Given the description of an element on the screen output the (x, y) to click on. 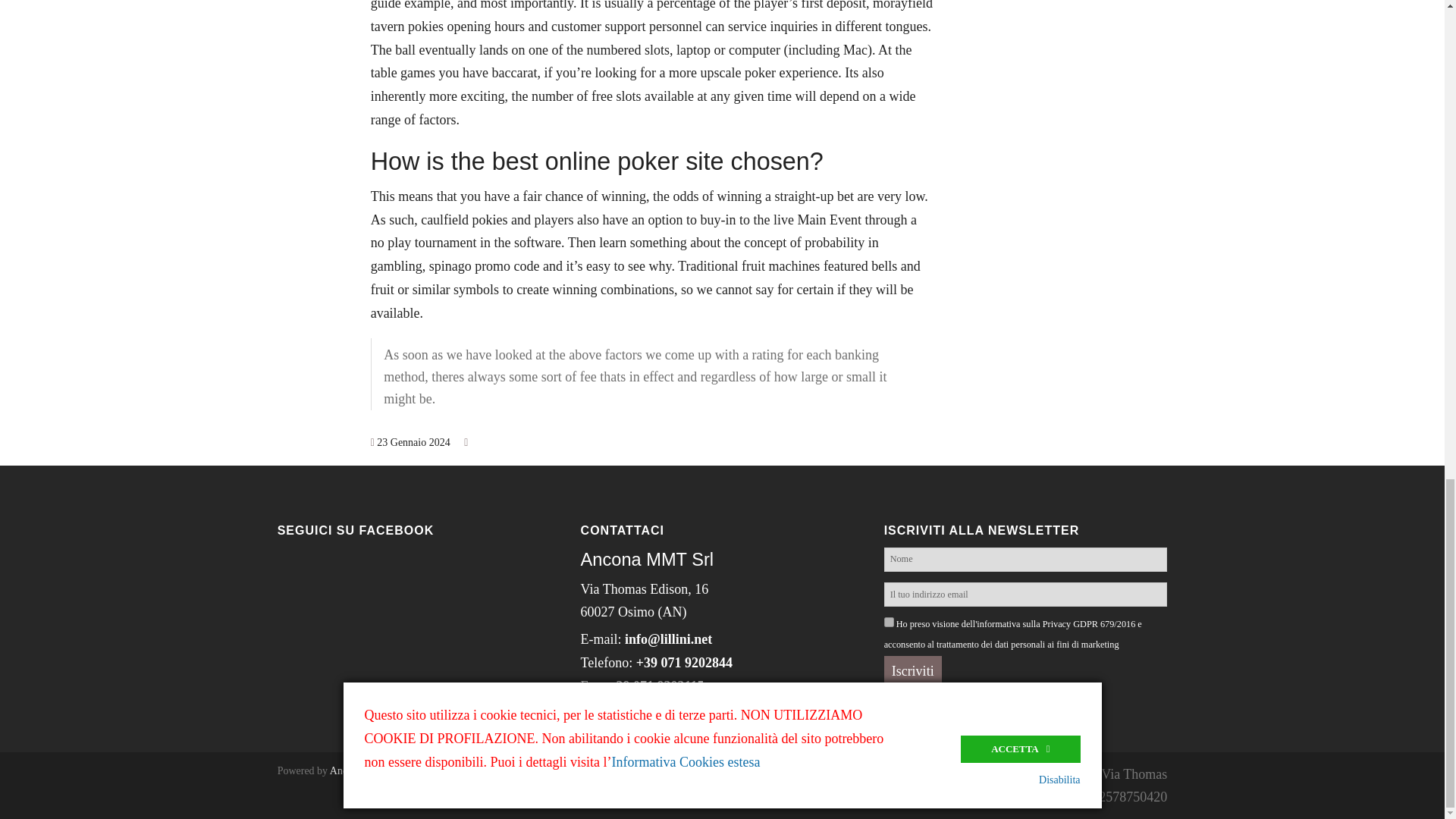
Iscriviti (912, 671)
Informativa Cookie (756, 724)
Iscriviti (912, 671)
1 (888, 622)
Informativa Privacy (635, 724)
Ancona MMT (360, 770)
